Given the description of an element on the screen output the (x, y) to click on. 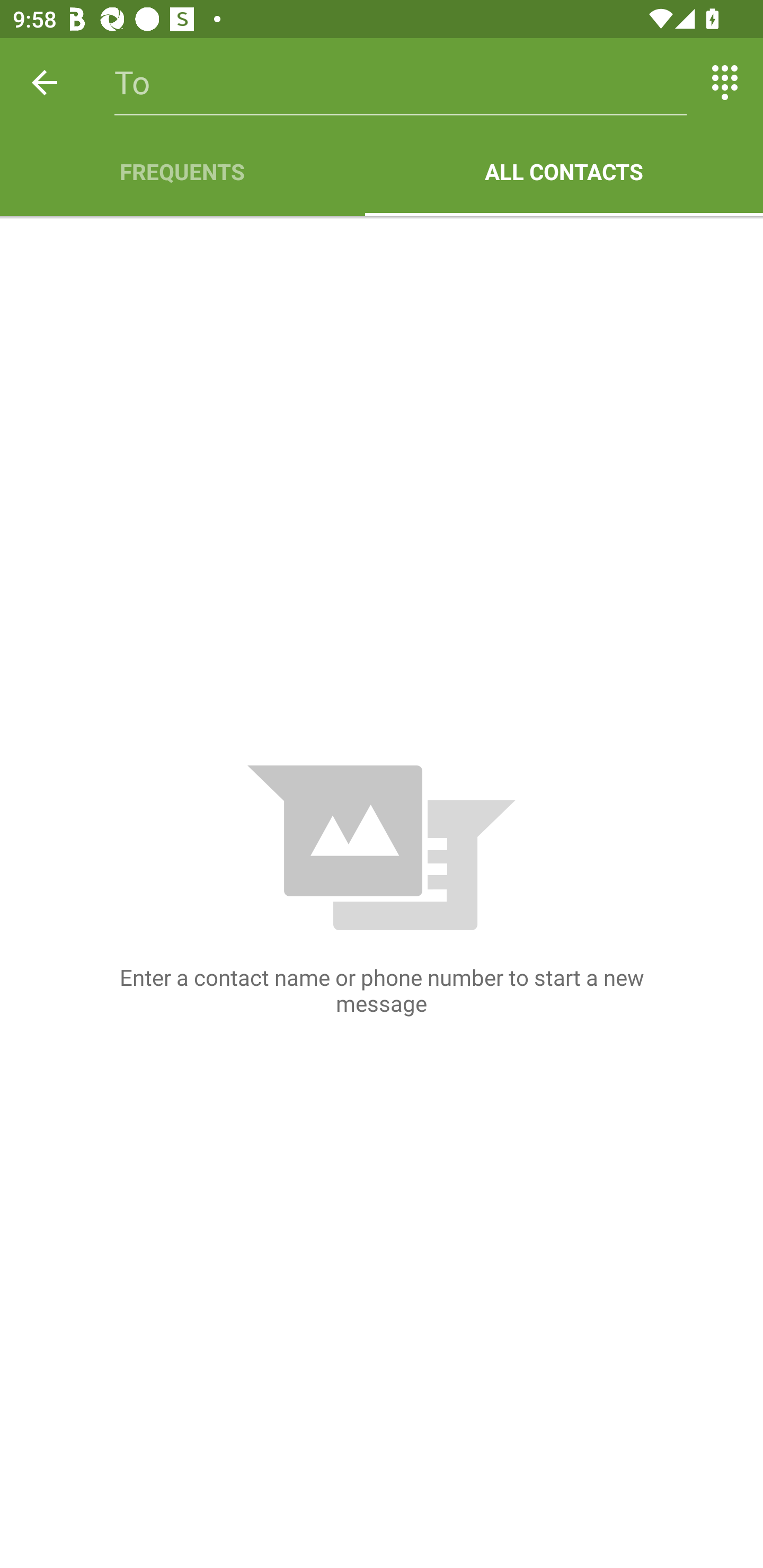
Back (44, 82)
Switch between entering text and numbers (724, 81)
To (400, 82)
FREQUENTS (182, 171)
ALL CONTACTS (563, 171)
